Given the description of an element on the screen output the (x, y) to click on. 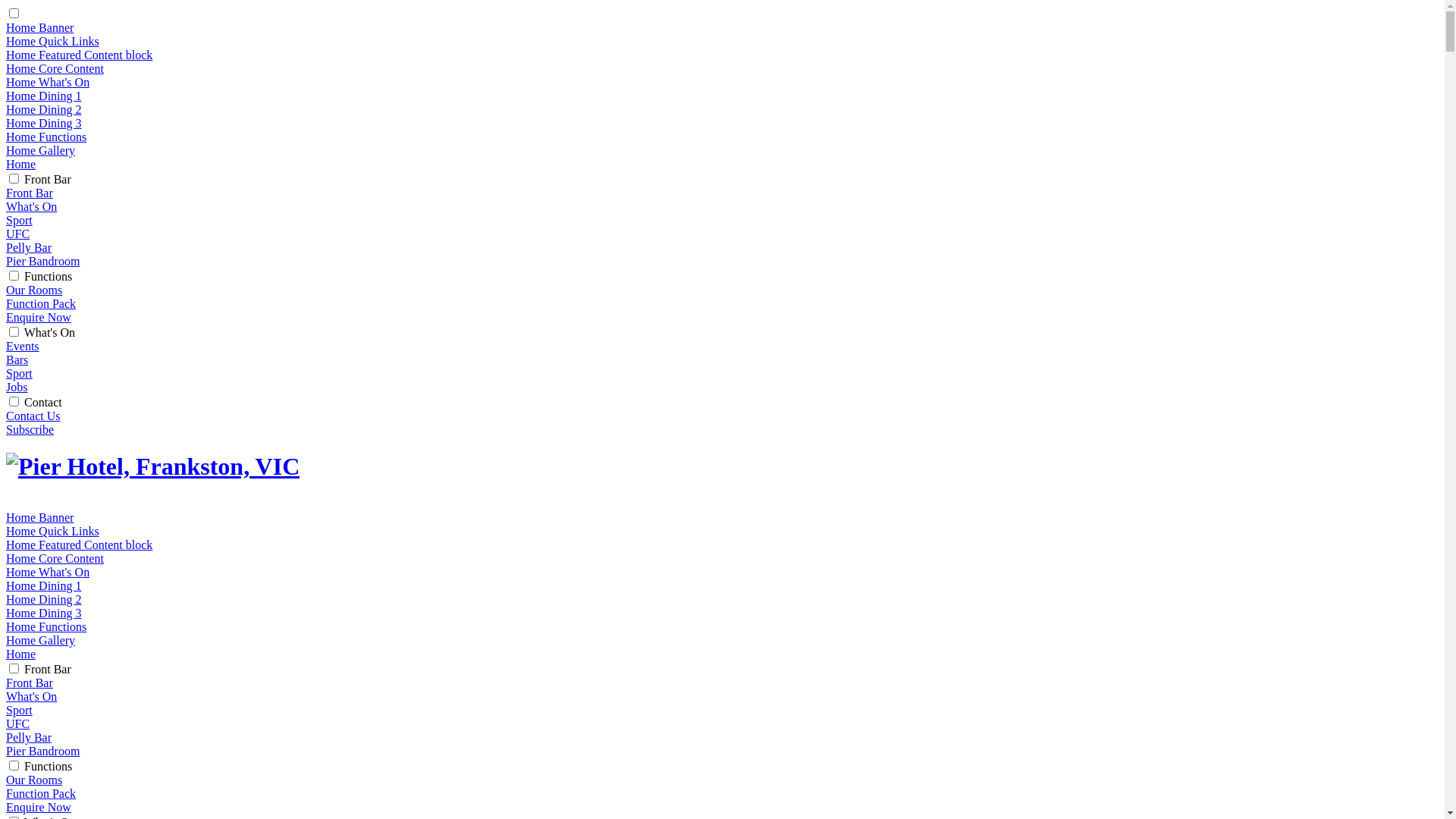
Contact Element type: text (43, 401)
Home Banner Element type: text (39, 27)
Home Functions Element type: text (46, 136)
Home Dining 2 Element type: text (43, 599)
Events Element type: text (22, 345)
Home Banner Element type: text (39, 517)
Home Core Content Element type: text (54, 68)
Home Quick Links Element type: text (52, 530)
Bars Element type: text (17, 359)
Home Dining 2 Element type: text (43, 109)
Home Featured Content block Element type: text (79, 544)
Home Core Content Element type: text (54, 558)
Home Element type: text (20, 653)
Front Bar Element type: text (29, 682)
Home Element type: text (20, 163)
What's On Element type: text (31, 206)
Home Featured Content block Element type: text (79, 54)
UFC Element type: text (17, 723)
Home Dining 3 Element type: text (43, 122)
Pelly Bar Element type: text (28, 737)
Sport Element type: text (19, 219)
Pelly Bar Element type: text (28, 247)
Pier Bandroom Element type: text (42, 260)
Enquire Now Element type: text (38, 316)
Home What's On Element type: text (47, 571)
Front Bar Element type: text (47, 178)
Home Functions Element type: text (46, 626)
Subscribe Element type: text (29, 429)
Front Bar Element type: text (29, 192)
Function Pack Element type: text (40, 303)
Home Dining 3 Element type: text (43, 612)
Contact Us Element type: text (33, 415)
Pier Bandroom Element type: text (42, 750)
Sport Element type: text (19, 709)
Home Dining 1 Element type: text (43, 95)
Functions Element type: text (48, 765)
What's On Element type: text (49, 332)
What's On Element type: text (31, 696)
Sport Element type: text (19, 373)
UFC Element type: text (17, 233)
Home Gallery Element type: text (40, 150)
Functions Element type: text (48, 275)
Home Quick Links Element type: text (52, 40)
Home Dining 1 Element type: text (43, 585)
Function Pack Element type: text (40, 793)
Home Gallery Element type: text (40, 639)
Jobs Element type: text (16, 386)
Our Rooms Element type: text (34, 779)
Our Rooms Element type: text (34, 289)
Enquire Now Element type: text (38, 806)
Front Bar Element type: text (47, 668)
Home What's On Element type: text (47, 81)
